Given the description of an element on the screen output the (x, y) to click on. 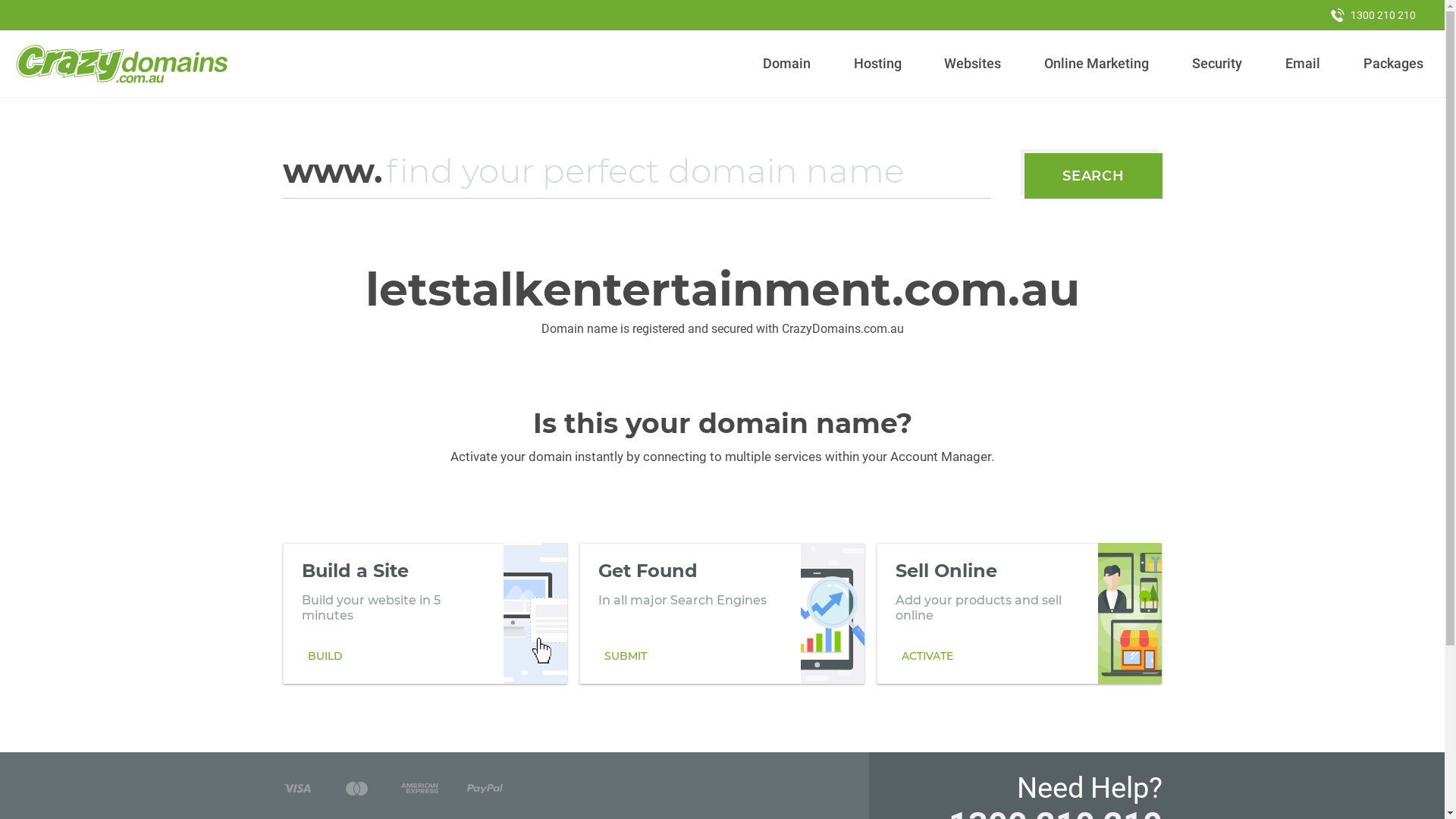
Security Element type: text (1217, 63)
SEARCH Element type: text (1092, 175)
Websites Element type: text (972, 63)
Email Element type: text (1302, 63)
Build a Site
Build your website in 5 minutes
BUILD Element type: text (424, 613)
Hosting Element type: text (877, 63)
Domain Element type: text (786, 63)
1300 210 210 Element type: text (1373, 15)
Sell Online
Add your products and sell online
ACTIVATE Element type: text (1018, 613)
Get Found
In all major Search Engines
SUBMIT Element type: text (721, 613)
Online Marketing Element type: text (1096, 63)
Packages Element type: text (1392, 63)
